Given the description of an element on the screen output the (x, y) to click on. 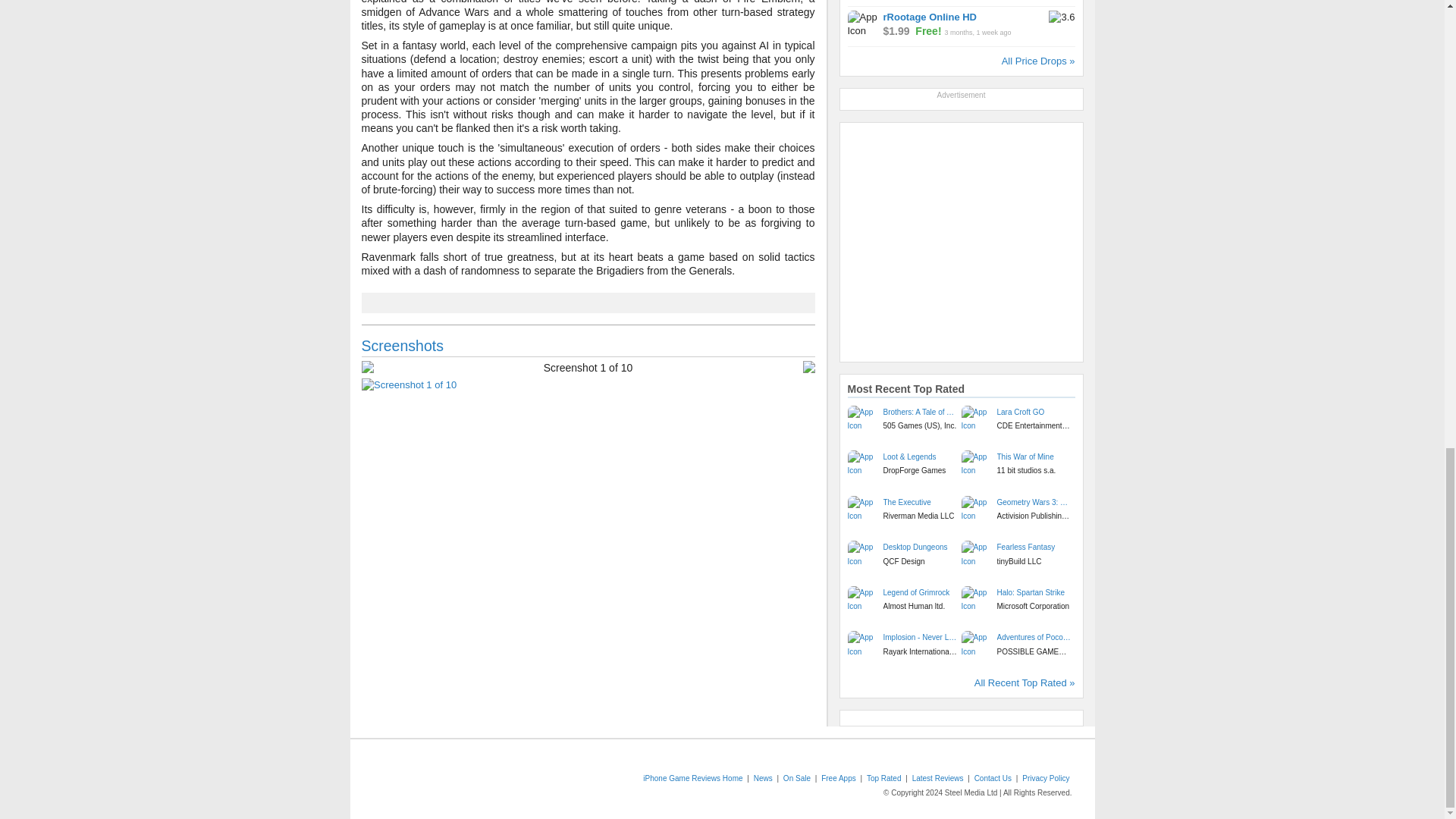
Screenshot 1 of 10 (587, 385)
